Given the description of an element on the screen output the (x, y) to click on. 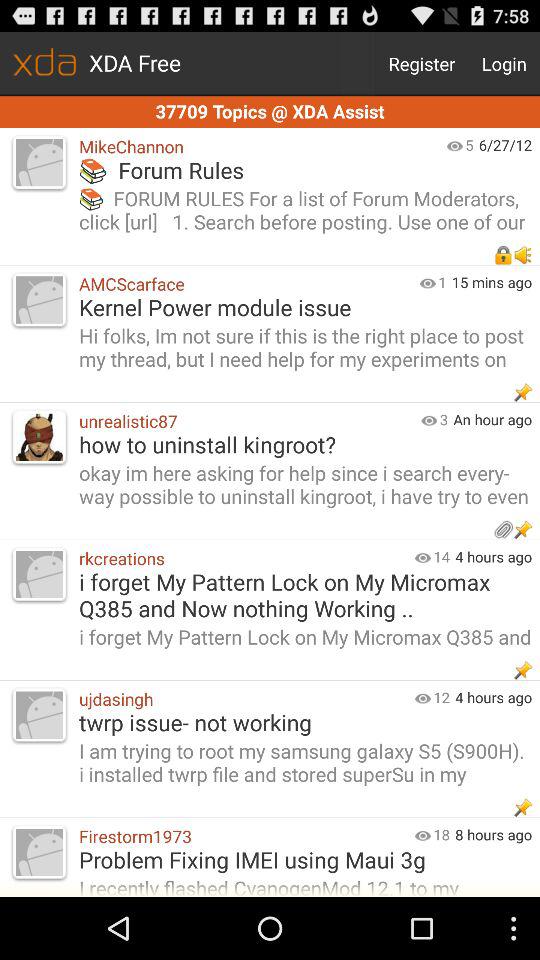
launch the icon below i am trying item (242, 835)
